Given the description of an element on the screen output the (x, y) to click on. 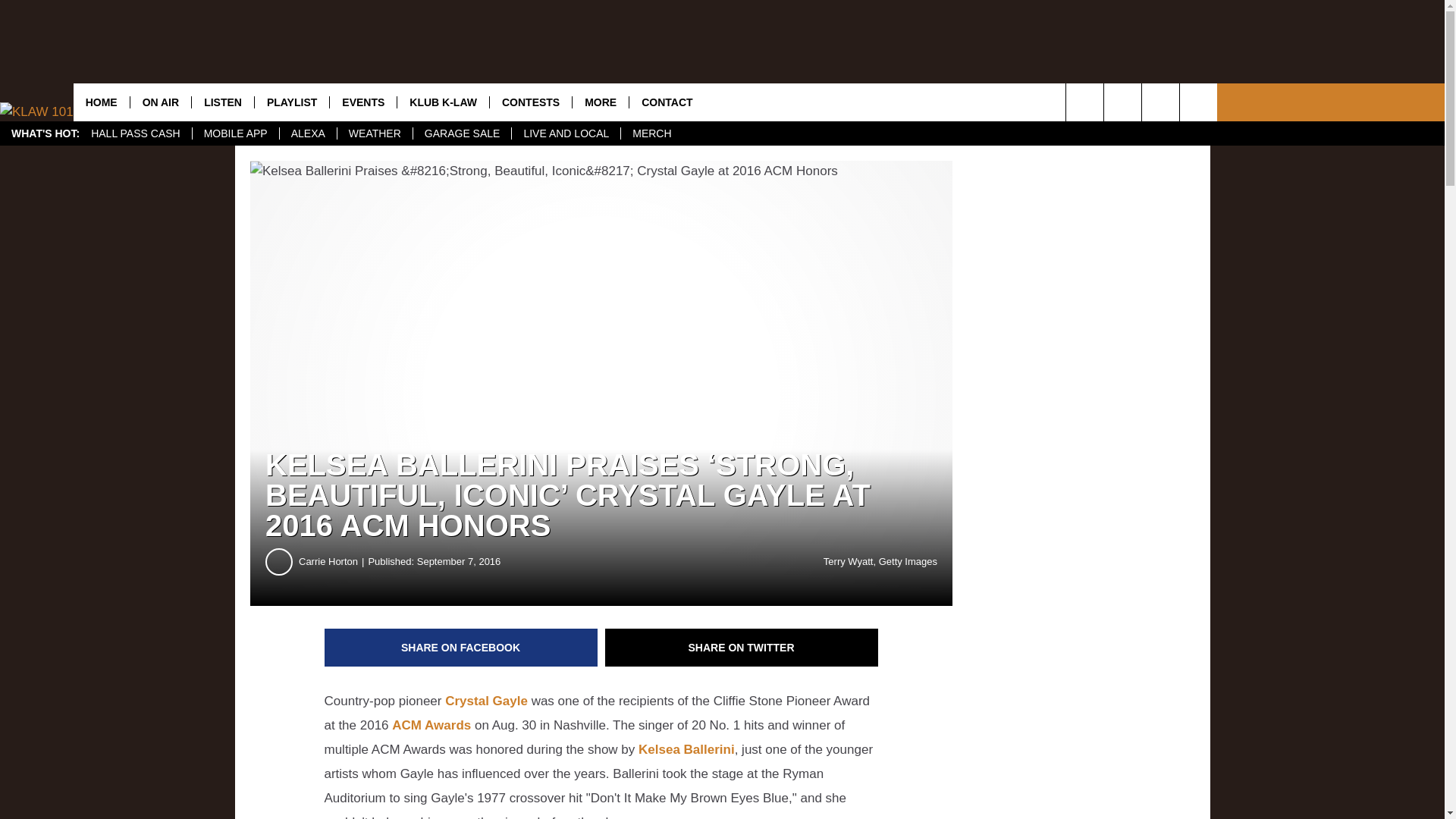
LIVE AND LOCAL (565, 133)
EVENTS (362, 102)
HOME (101, 102)
MERCH (651, 133)
LISTEN (221, 102)
Share on Twitter (741, 647)
PLAYLIST (291, 102)
WEATHER (374, 133)
MOBILE APP (235, 133)
ALEXA (307, 133)
